Given the description of an element on the screen output the (x, y) to click on. 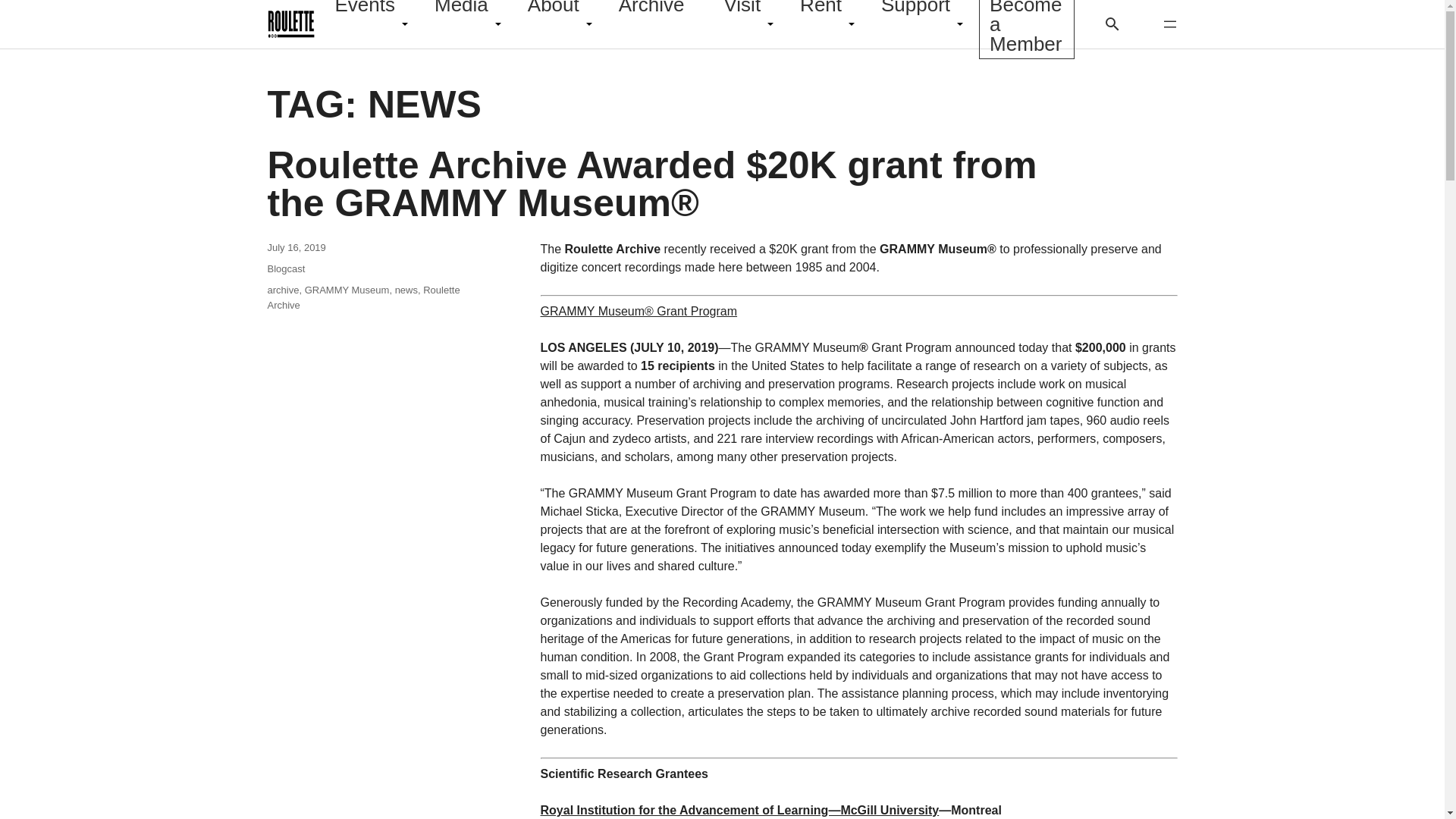
About (553, 14)
Visit (741, 14)
Become a Member (1026, 33)
Events (364, 14)
Support (915, 14)
Archive (651, 14)
Media (461, 14)
Rent (820, 14)
